Given the description of an element on the screen output the (x, y) to click on. 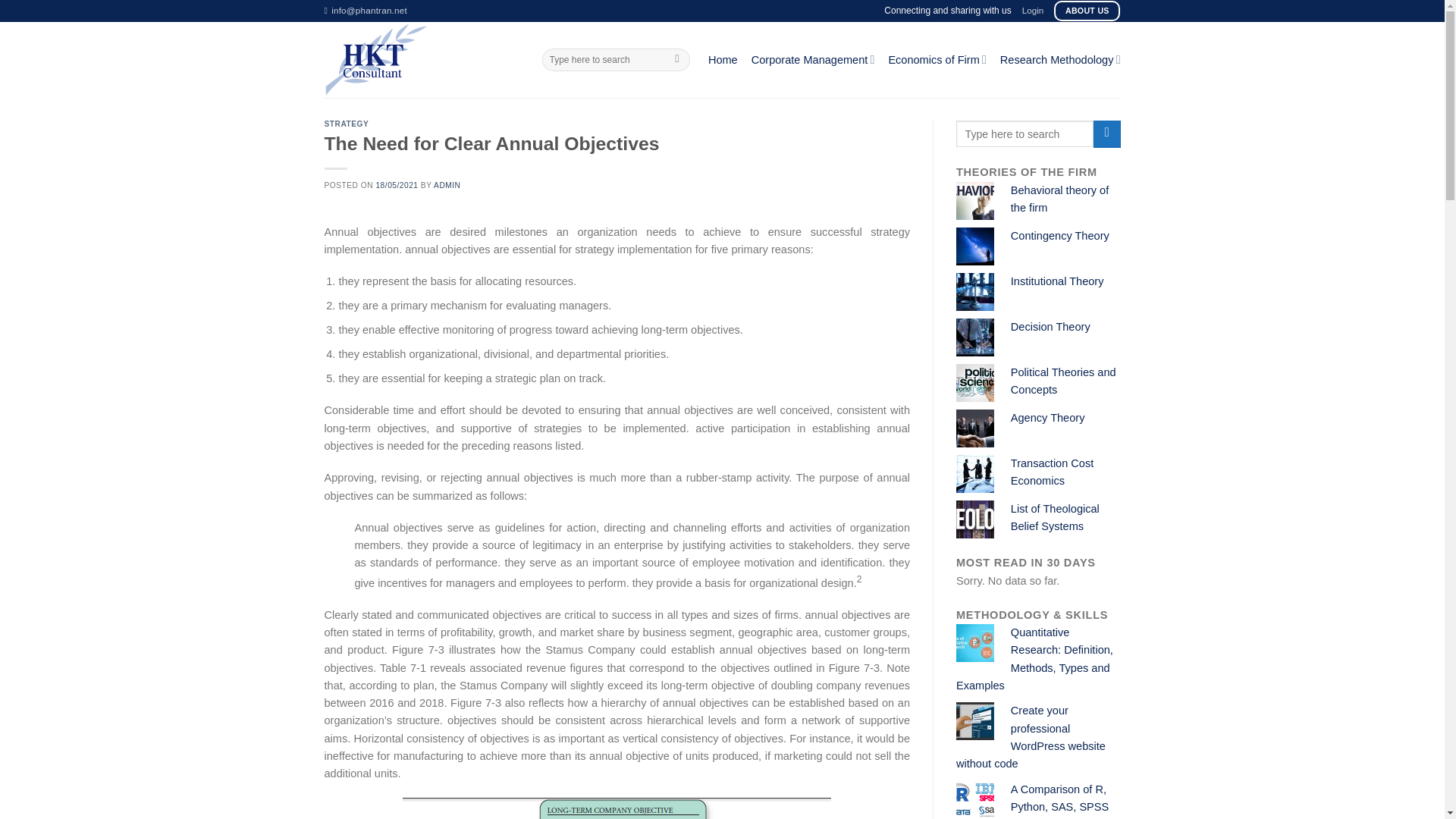
HKT Consultant (421, 59)
ABOUT US (1086, 10)
Home (722, 59)
Connecting and sharing with us (946, 10)
Corporate Management (813, 59)
Login (1032, 11)
